Given the description of an element on the screen output the (x, y) to click on. 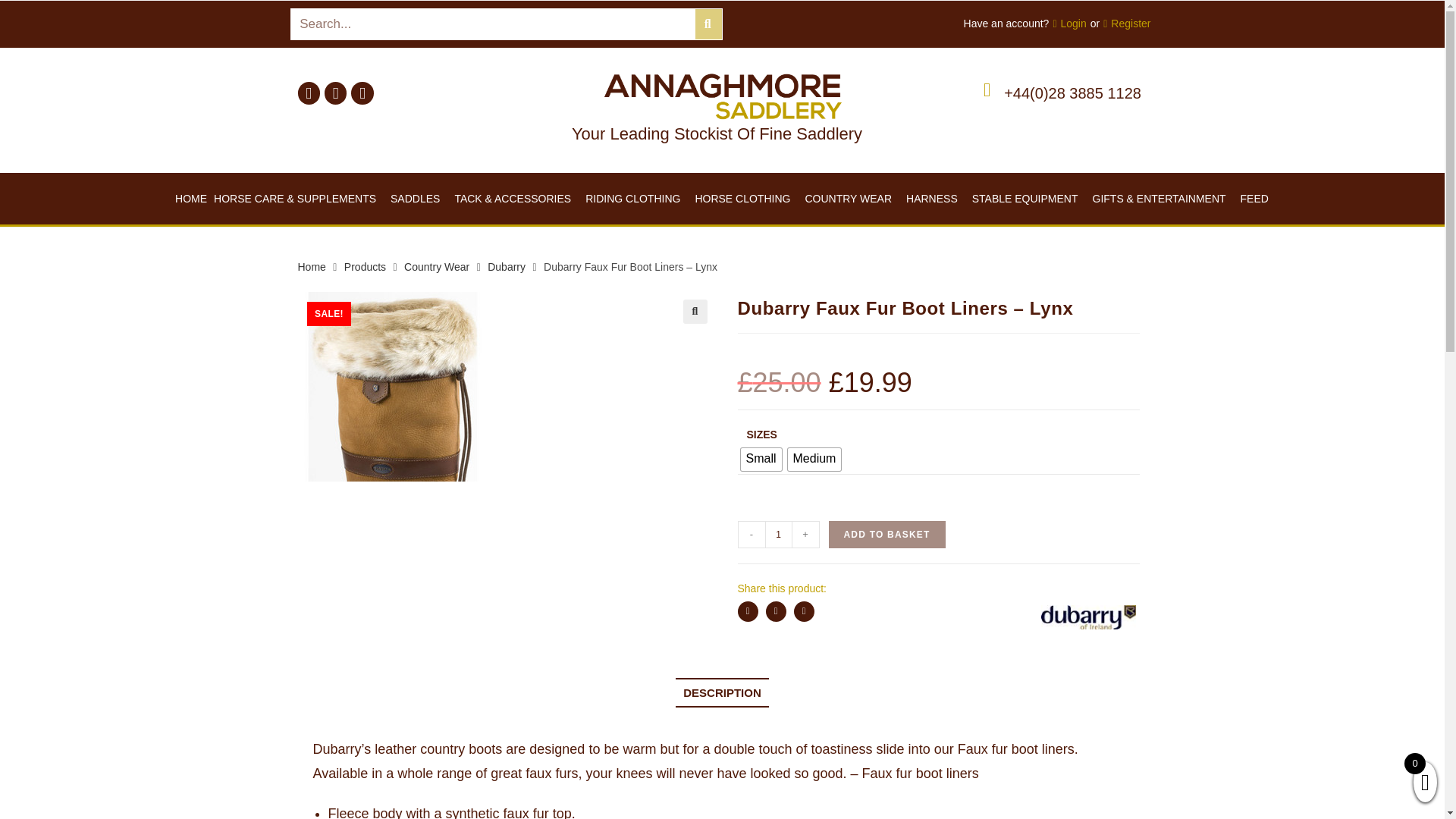
Dubarry (506, 266)
Register (1126, 23)
Country Wear (436, 266)
Login (1069, 23)
Your Leading Stockist Of Fine Saddlery (716, 133)
Small (759, 458)
HOME (187, 198)
Medium (814, 458)
images (391, 386)
Products (364, 266)
